Given the description of an element on the screen output the (x, y) to click on. 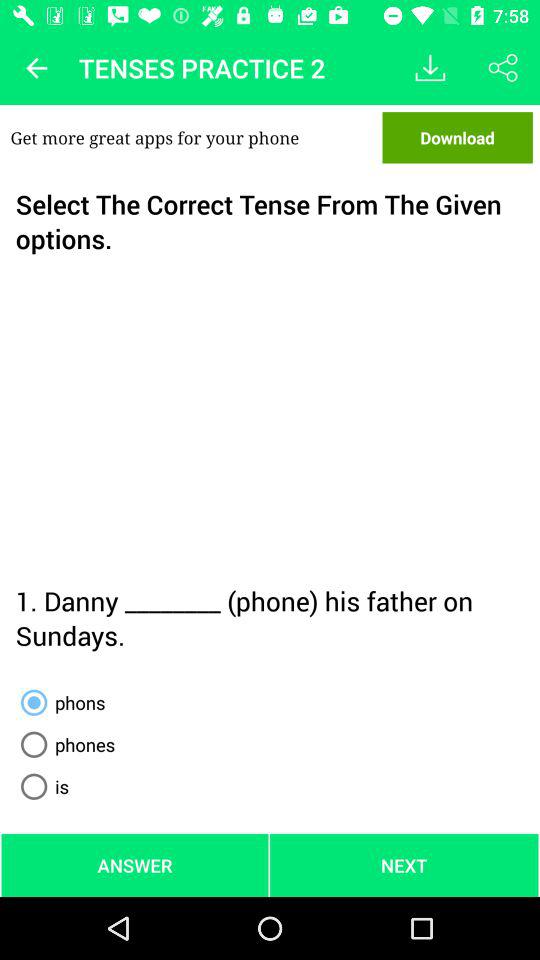
tap icon above the get more great item (36, 68)
